Given the description of an element on the screen output the (x, y) to click on. 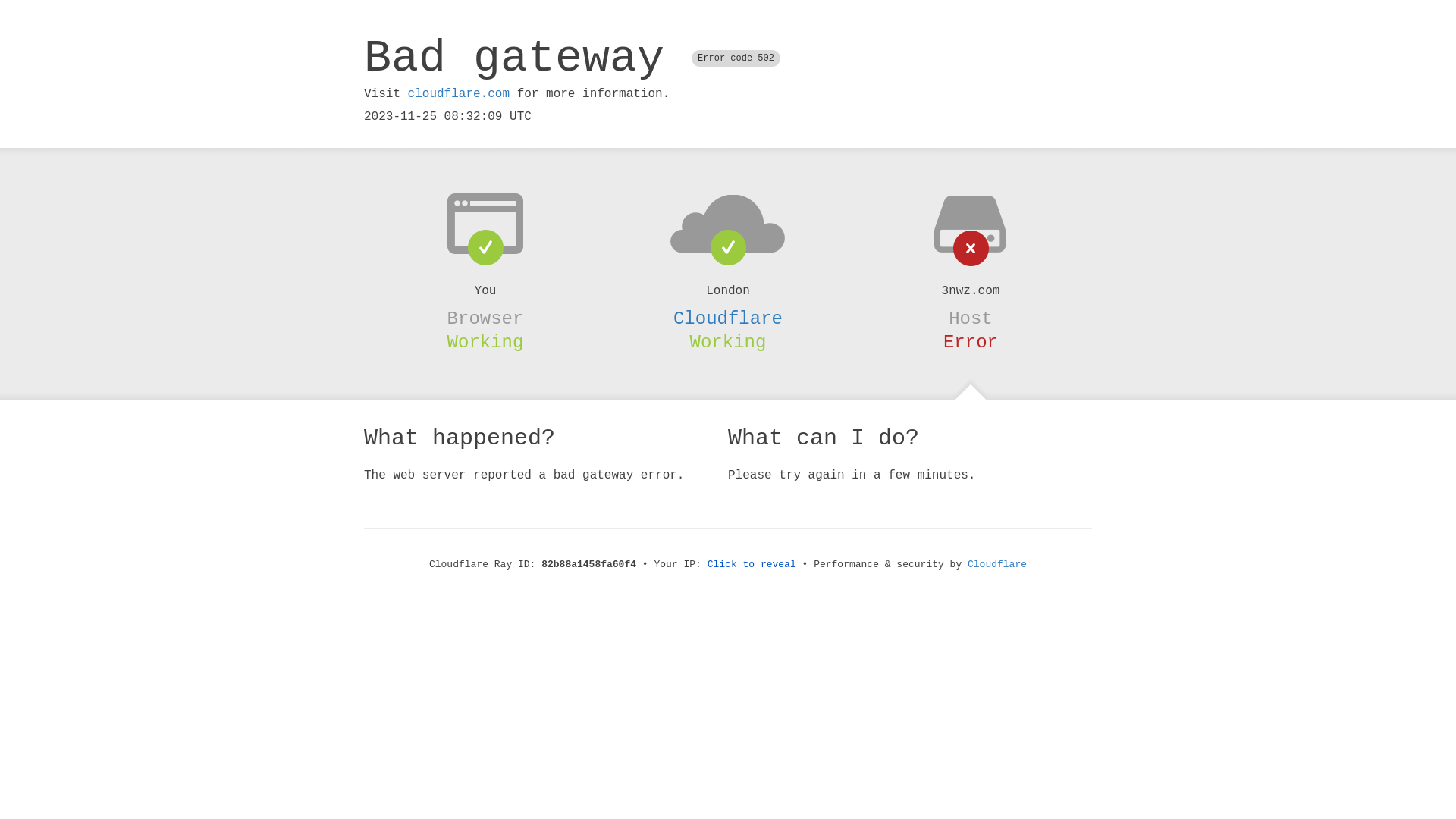
Cloudflare Element type: text (727, 318)
Cloudflare Element type: text (996, 564)
Click to reveal Element type: text (751, 564)
cloudflare.com Element type: text (458, 93)
